Given the description of an element on the screen output the (x, y) to click on. 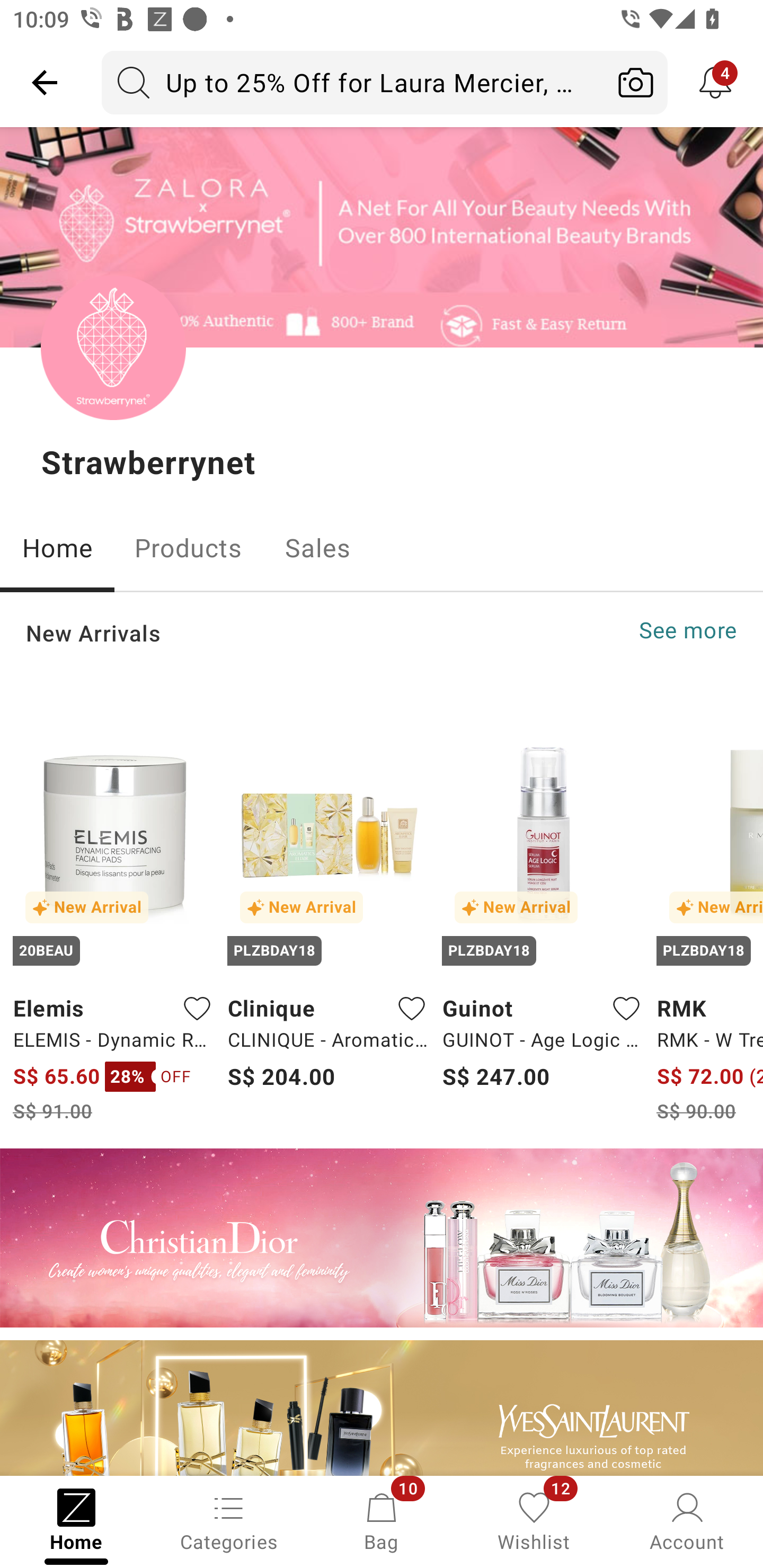
Navigate up (44, 82)
Products (187, 547)
Sales (317, 547)
See more (687, 630)
Categories (228, 1519)
Bag, 10 new notifications Bag (381, 1519)
Wishlist, 12 new notifications Wishlist (533, 1519)
Account (686, 1519)
